Given the description of an element on the screen output the (x, y) to click on. 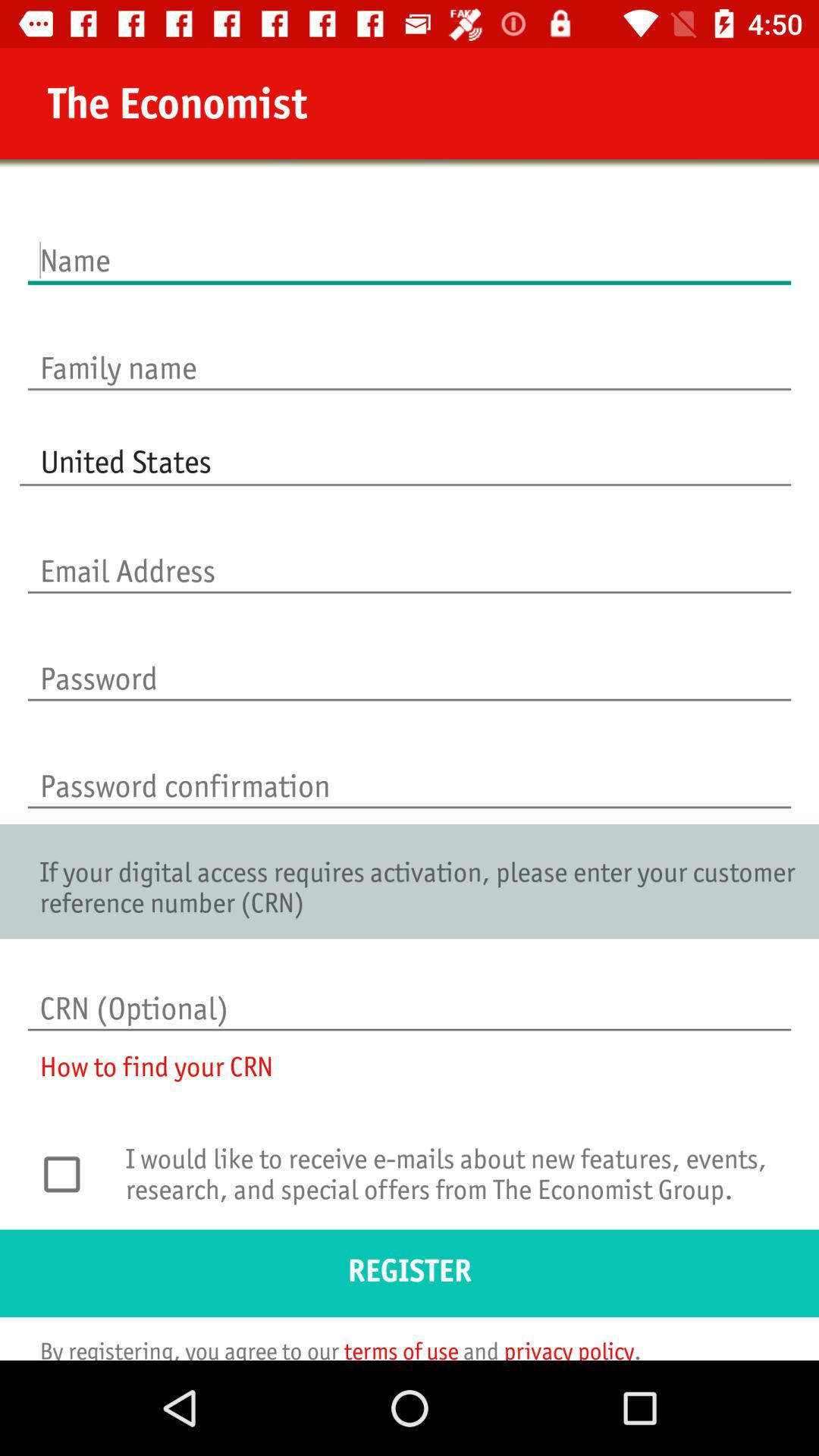
type in family name (409, 352)
